Given the description of an element on the screen output the (x, y) to click on. 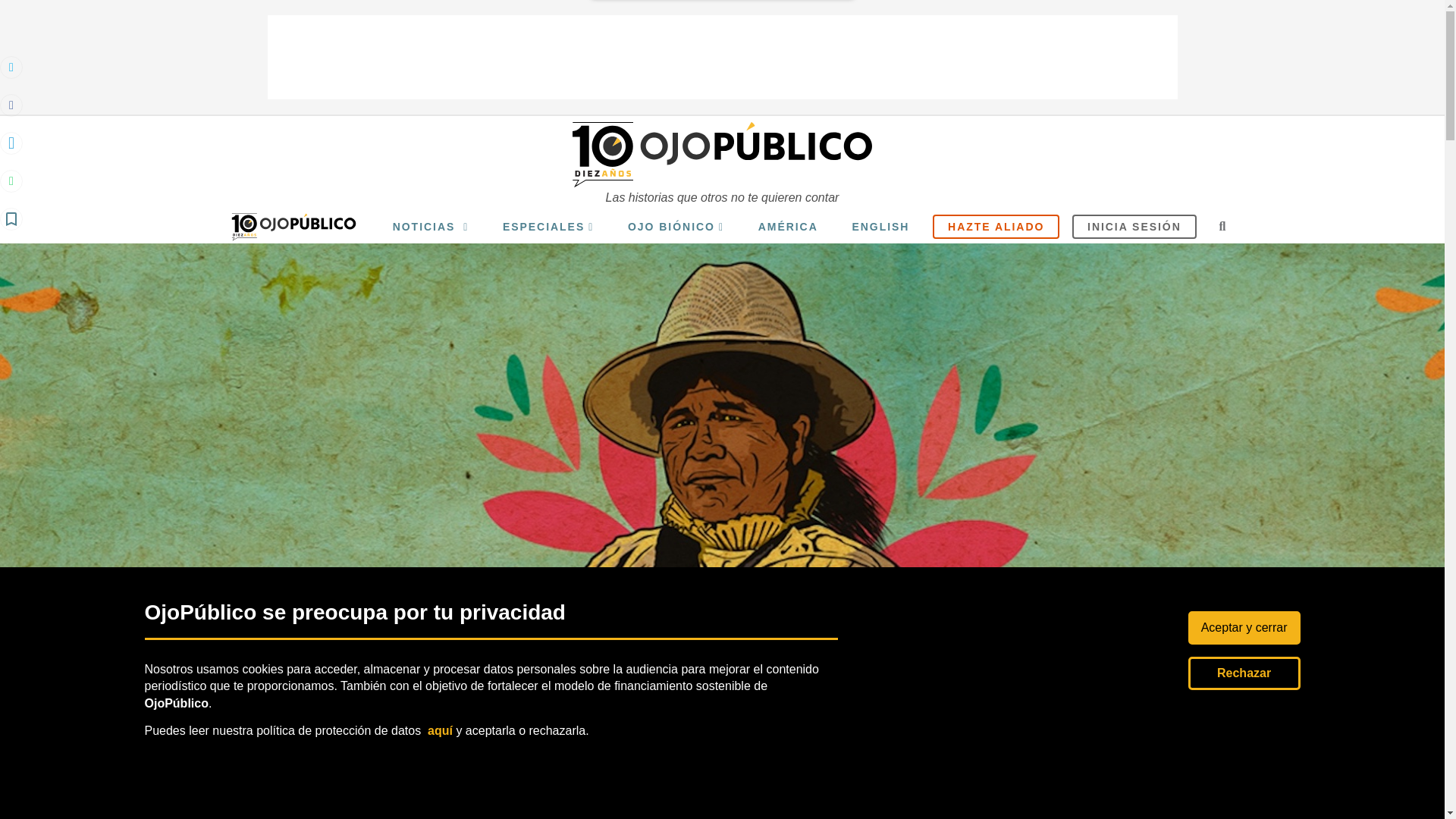
HAZTE ALIADO (996, 226)
ENGLISH (880, 226)
3rd party ad content (721, 57)
